Given the description of an element on the screen output the (x, y) to click on. 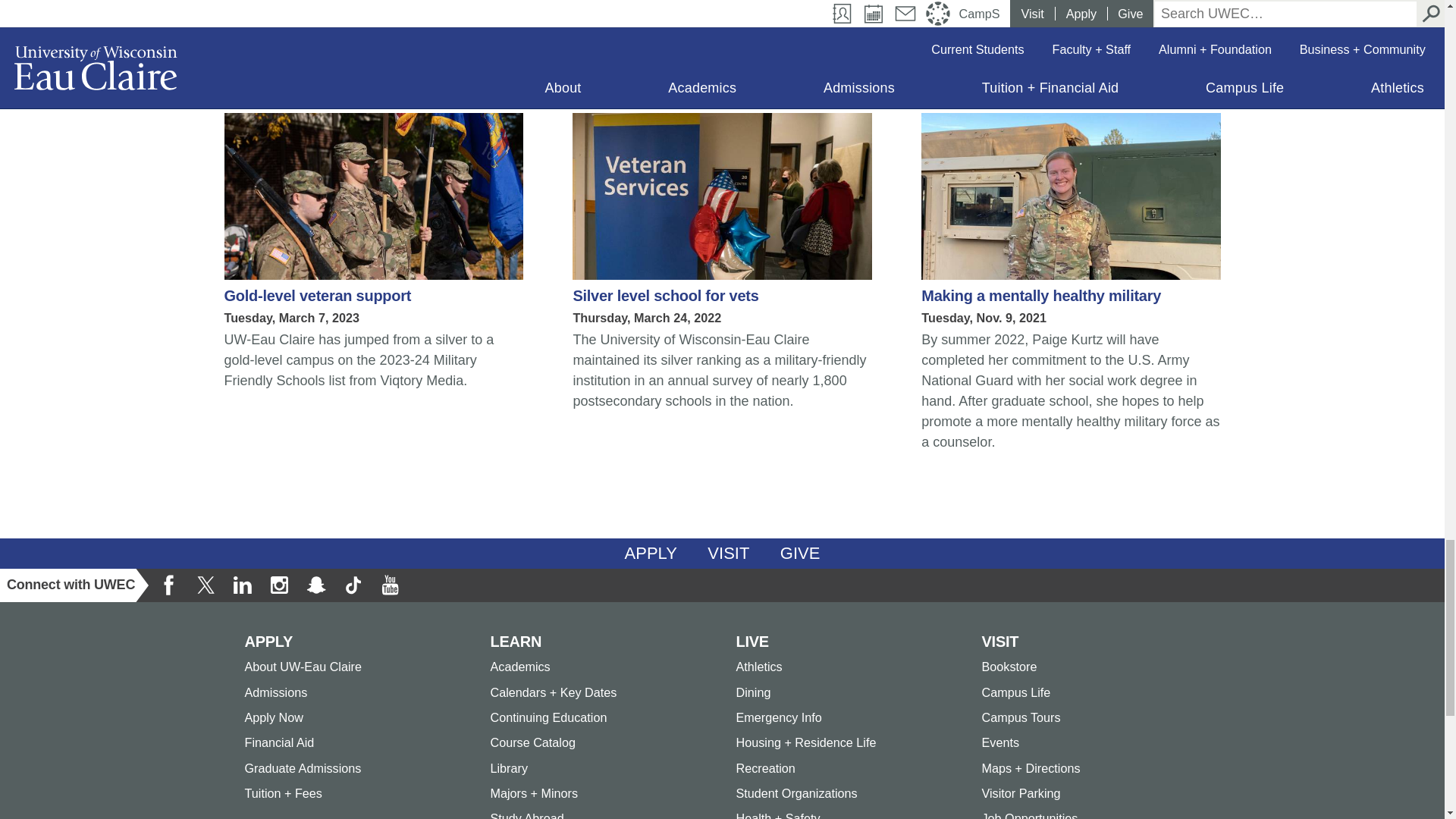
Follow us on Instagram (278, 584)
Connect with us on LinkedIn (242, 584)
Subscribe to our YouTube channel (389, 584)
Like us on Facebook (169, 584)
Apply Now (650, 553)
Follow us on TikTok (352, 584)
Follow us on Twitter (205, 584)
Plan a Visit (728, 553)
Give Now (800, 553)
Snap with us on Snapchat (316, 584)
